Given the description of an element on the screen output the (x, y) to click on. 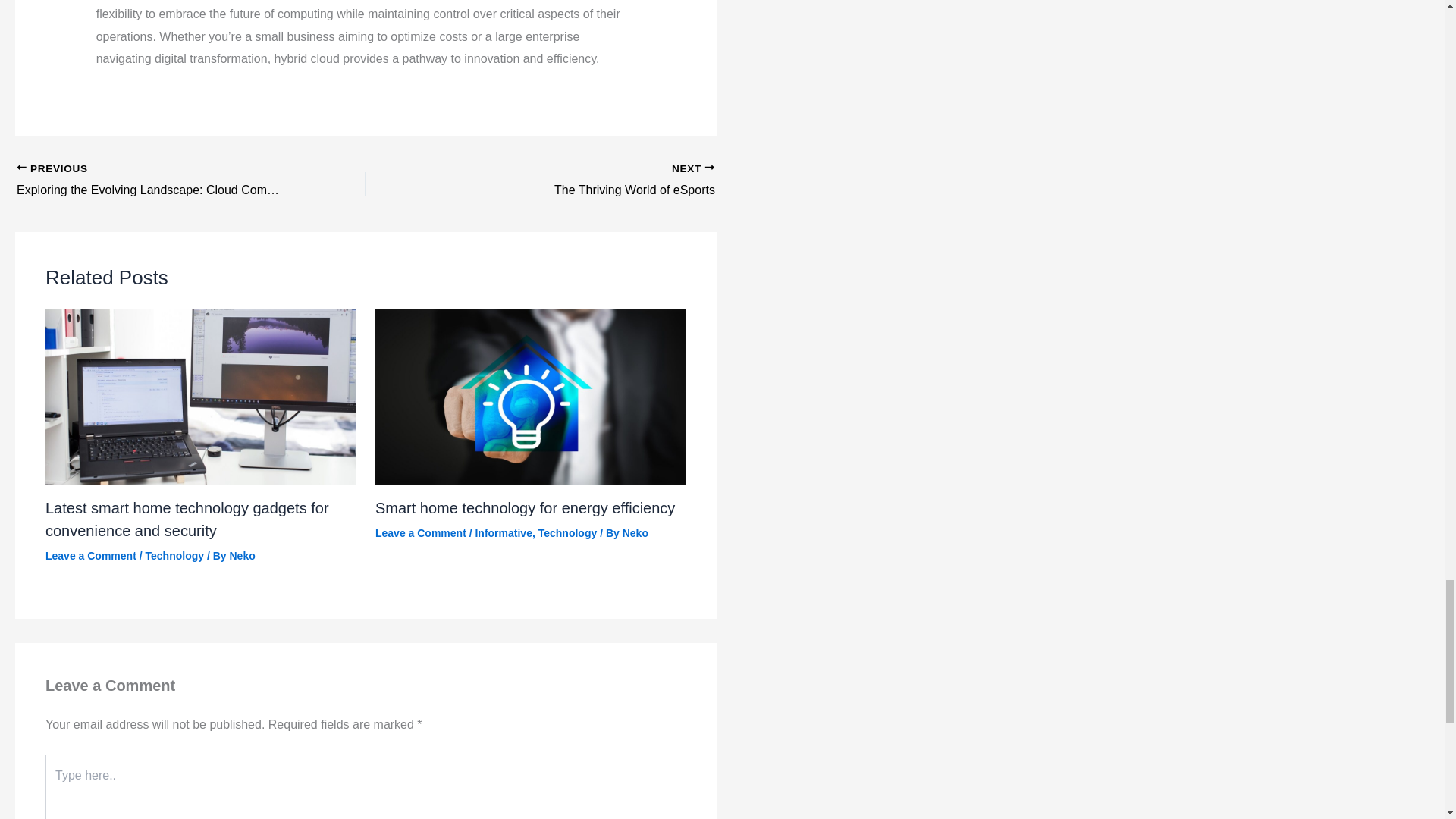
Informative (502, 532)
Technology (567, 532)
Leave a Comment (420, 532)
The Thriving World of eSports (573, 180)
Neko (241, 554)
Smart home technology for energy efficiency (525, 506)
Neko (573, 180)
View all posts by Neko (635, 532)
